Given the description of an element on the screen output the (x, y) to click on. 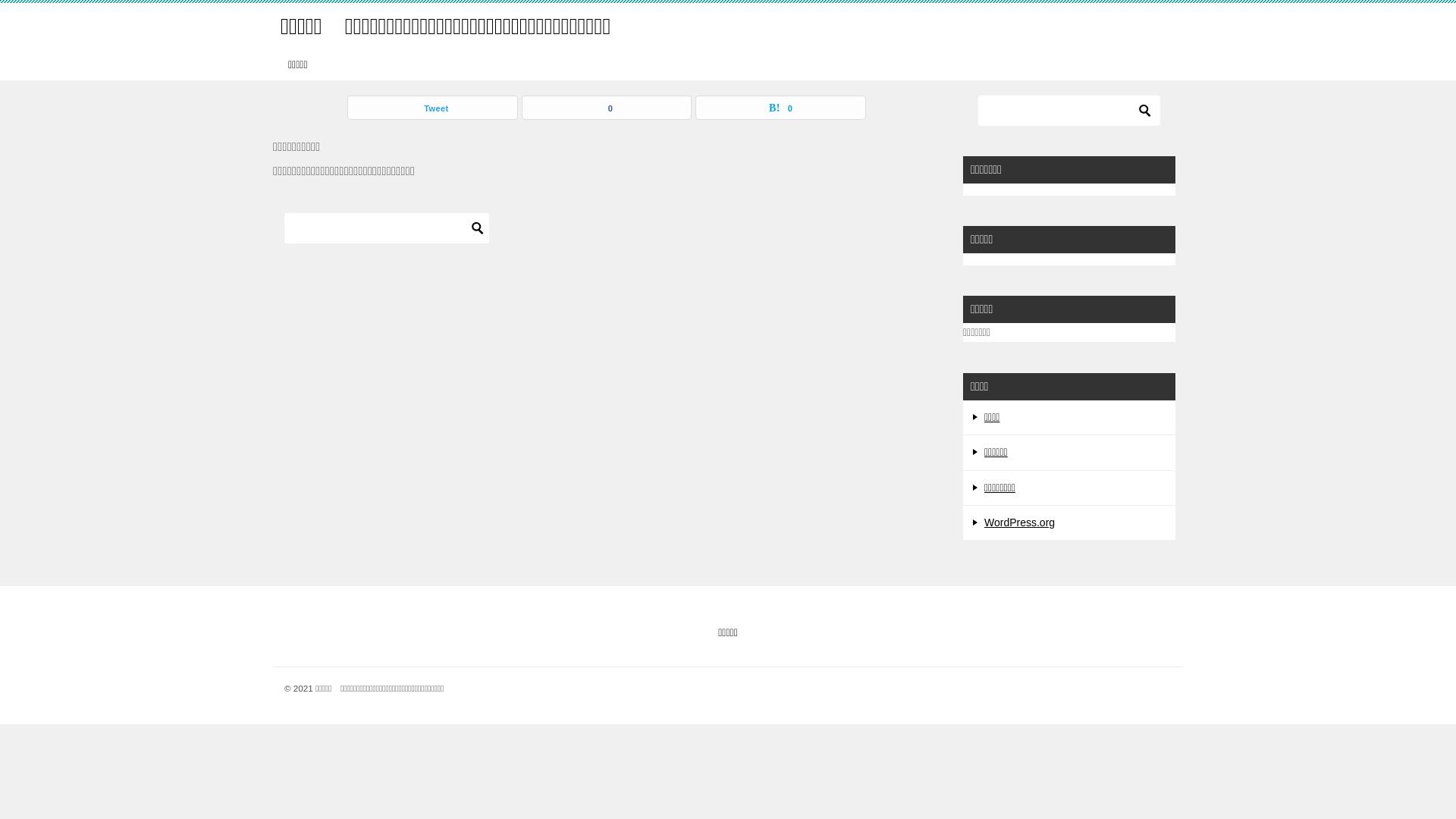
WordPress.org Element type: text (1019, 522)
0 Element type: text (606, 107)
0 Element type: text (780, 107)
Tweet Element type: text (432, 107)
